Given the description of an element on the screen output the (x, y) to click on. 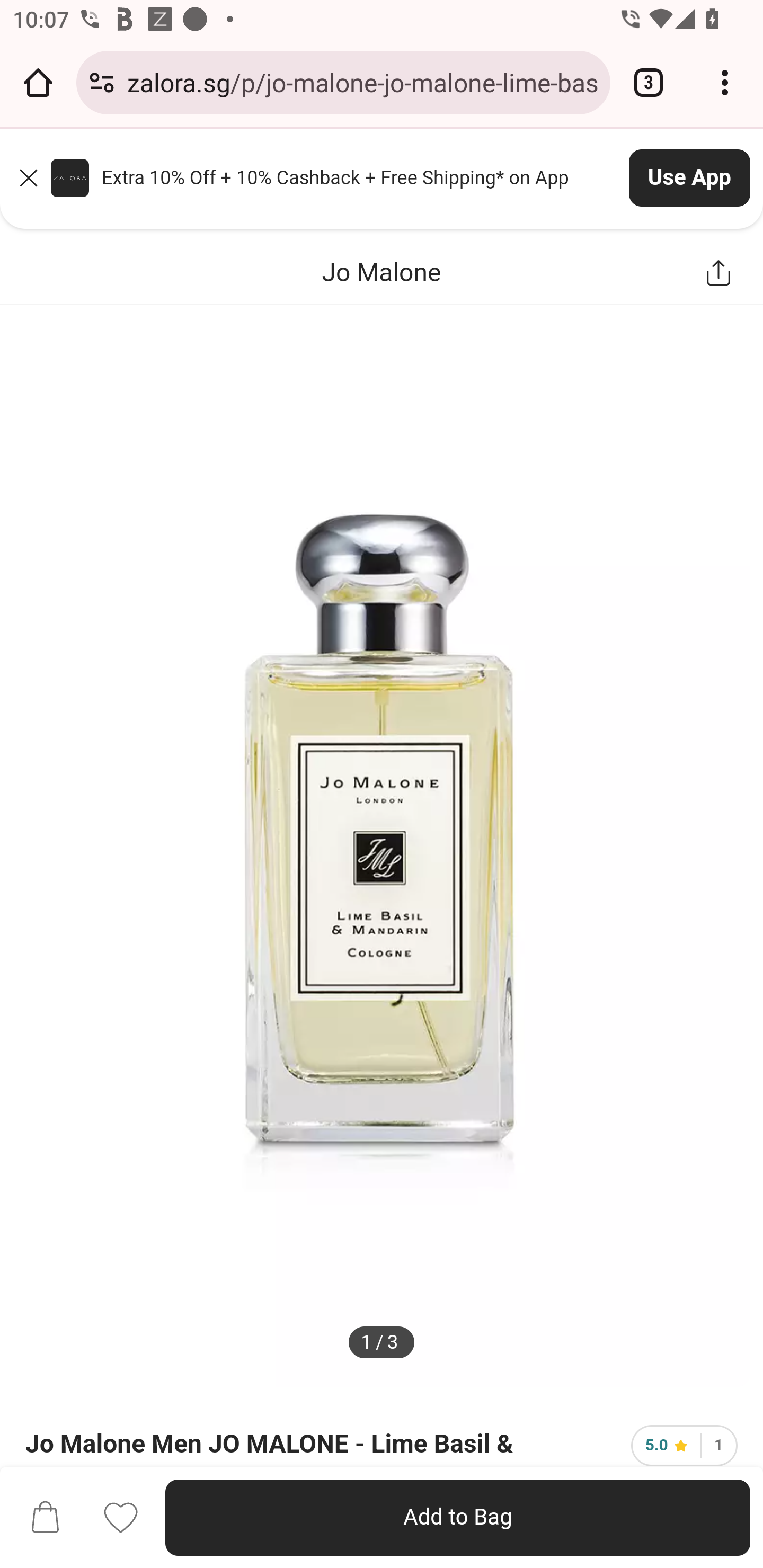
Open the home page (38, 82)
Connection is secure (101, 82)
Switch or close tabs (648, 82)
Customize and control Google Chrome (724, 82)
Jo Malone (381, 270)
Go To Reviews (683, 1444)
Go To Cart (44, 1517)
Add to Bag (457, 1517)
Add To Wishlist (120, 1517)
